Given the description of an element on the screen output the (x, y) to click on. 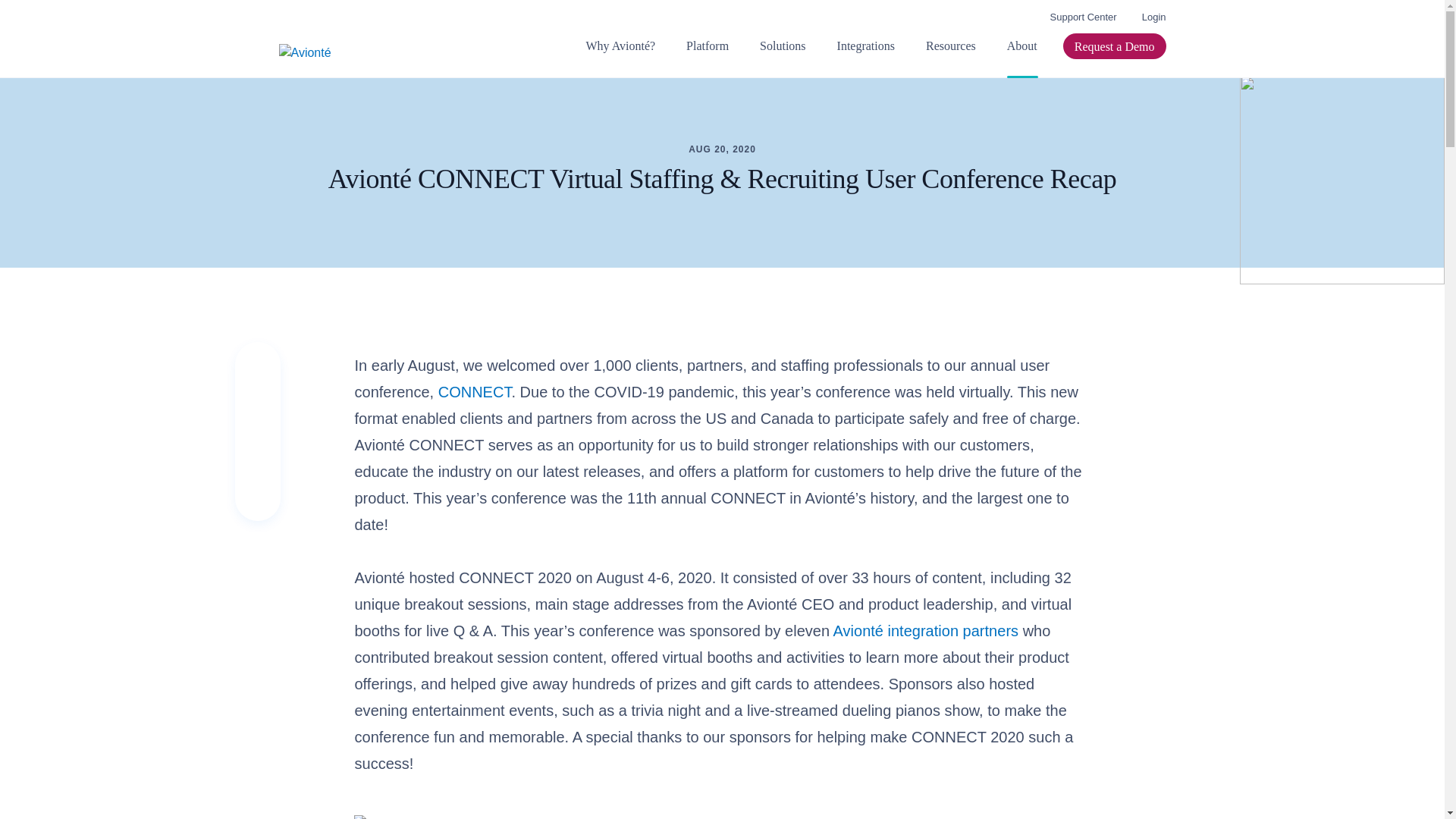
Solutions (782, 56)
Facebook (257, 487)
Integrations (865, 56)
Platform (706, 56)
Copy Link (257, 371)
Twitter (257, 409)
Linkedin (257, 447)
Resources (950, 56)
Support Center (1082, 16)
Login (1153, 16)
